Given the description of an element on the screen output the (x, y) to click on. 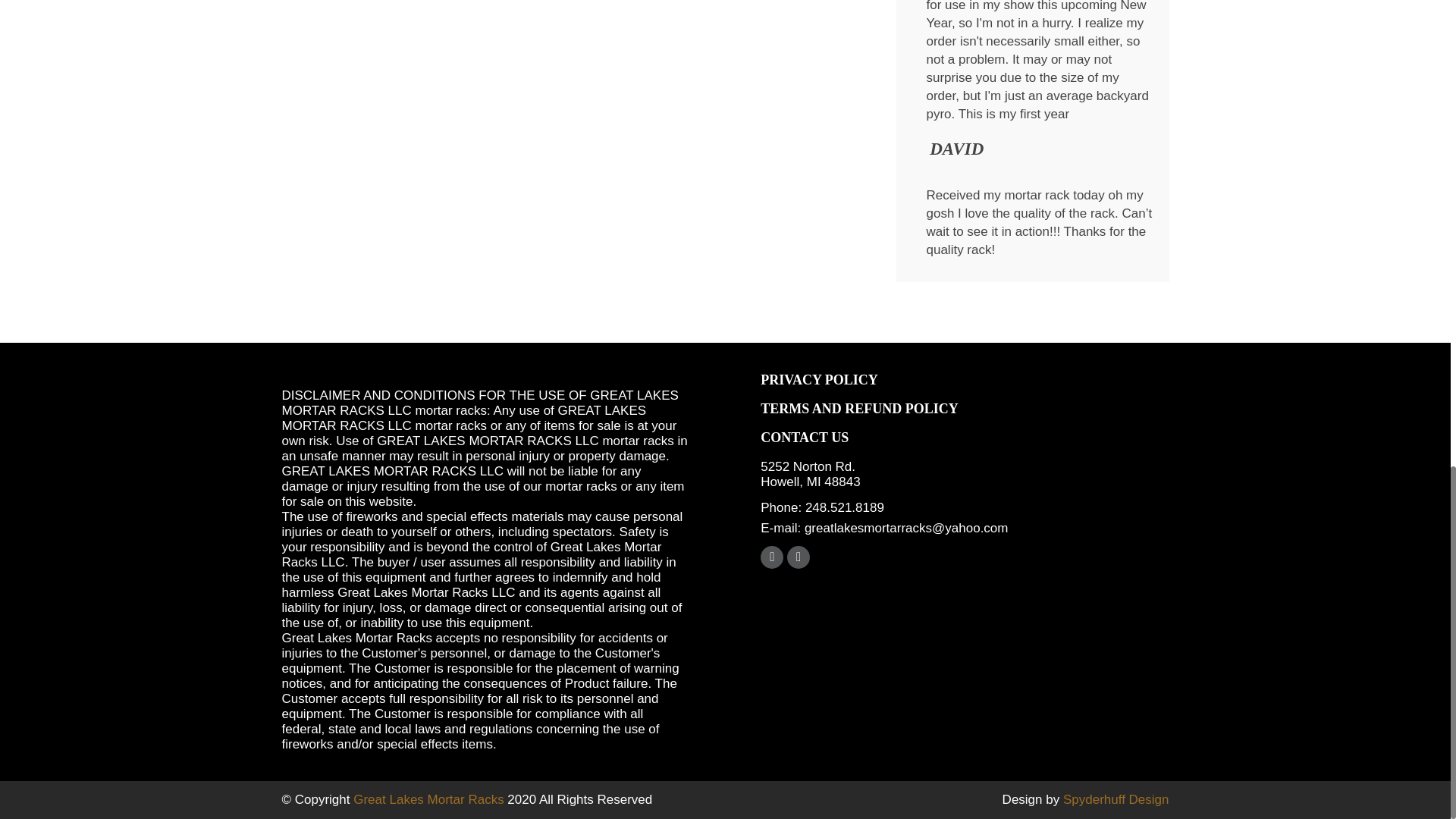
PRIVACY POLICY (818, 379)
DAVID (957, 152)
facebook (771, 557)
Spyderhuff Design (1115, 799)
youtube (798, 557)
Great Lakes Mortar Racks (428, 799)
TERMS AND REFUND POLICY (859, 408)
